Given the description of an element on the screen output the (x, y) to click on. 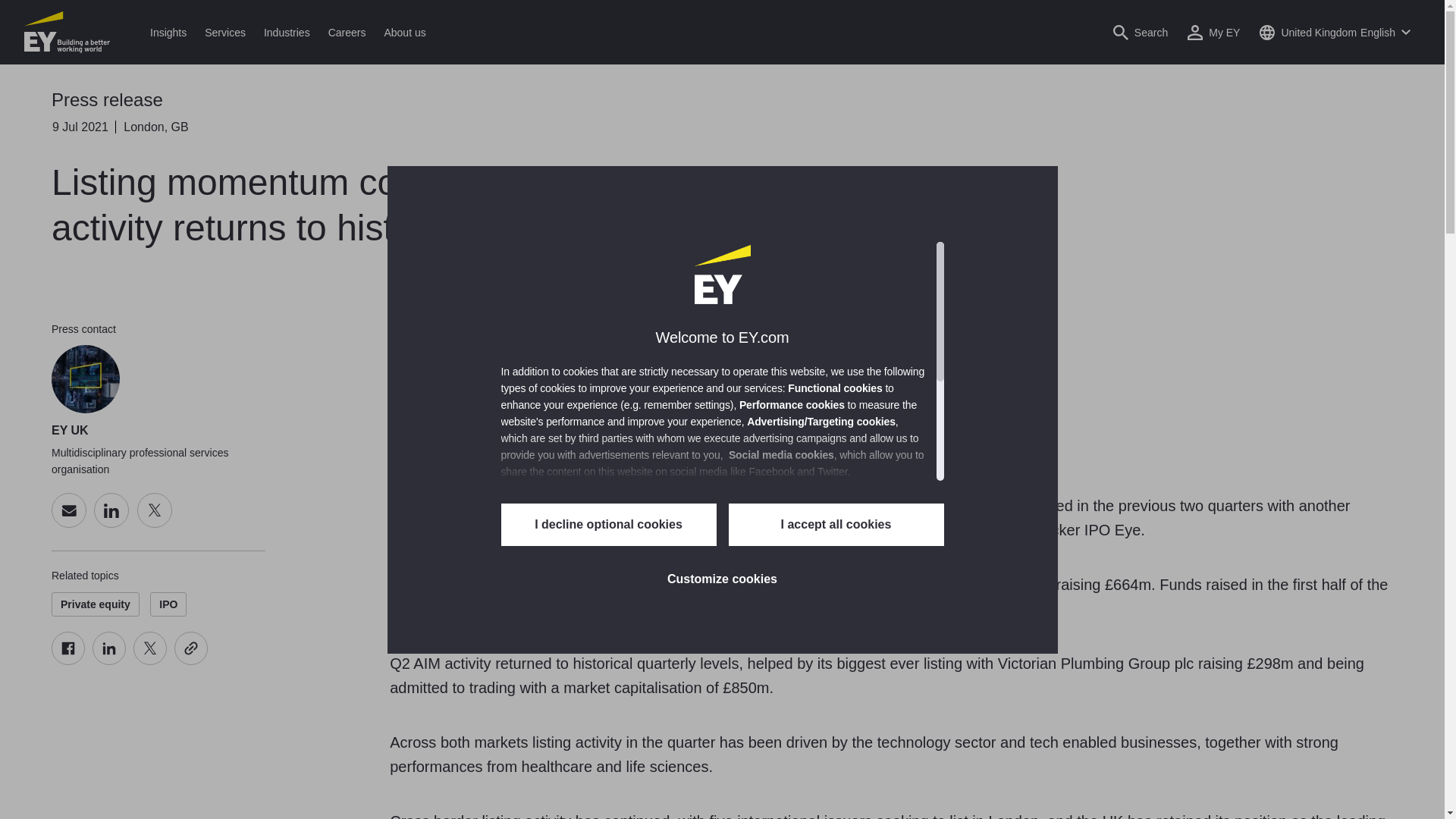
Open country language switcher (1334, 32)
Copy link (191, 648)
EY Homepage (67, 32)
Linkedin (109, 648)
Facebook (67, 648)
My EY (1213, 32)
Social Media Share (129, 648)
Open search (1140, 32)
EY UK (84, 378)
